Given the description of an element on the screen output the (x, y) to click on. 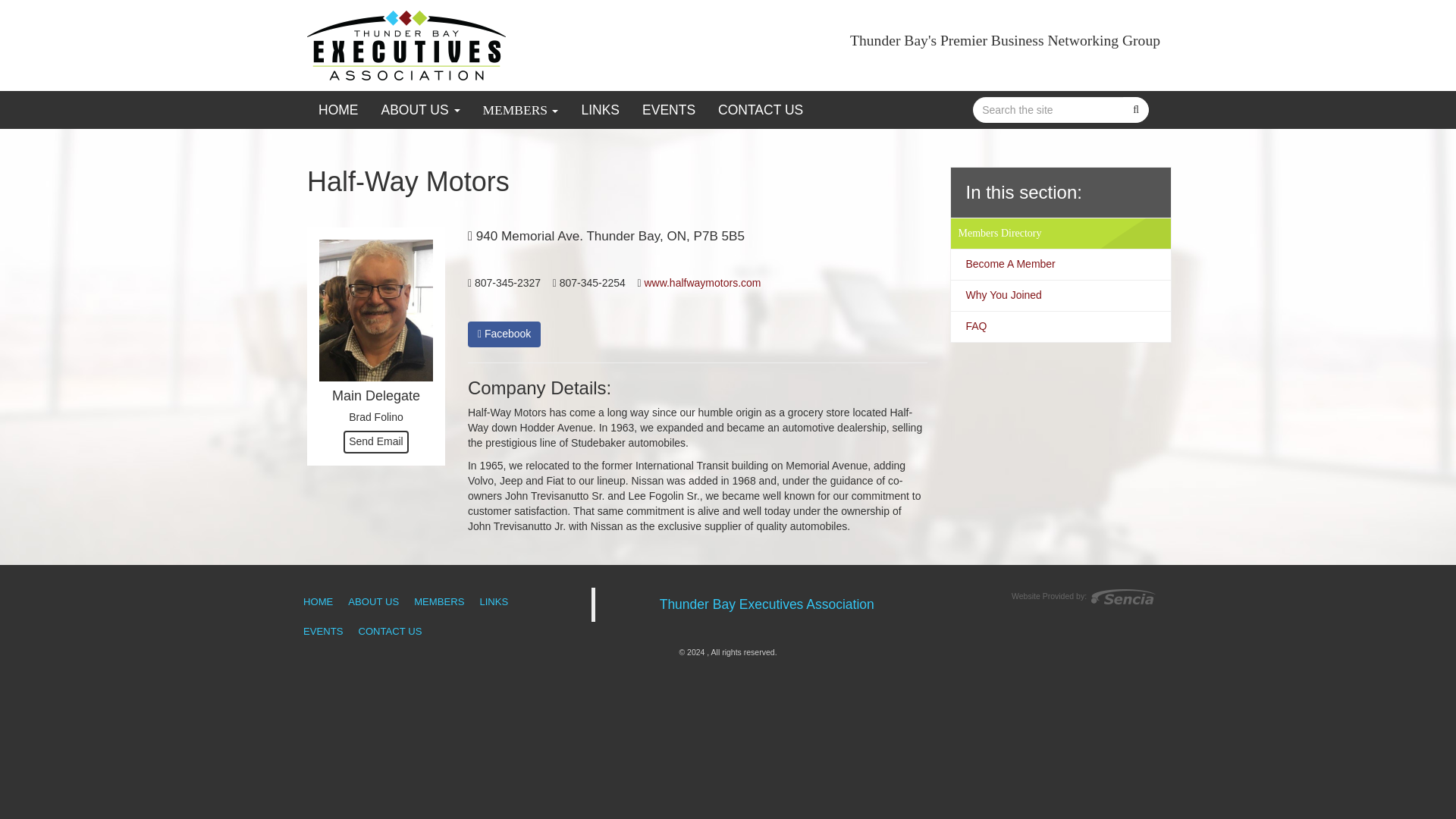
LINKS (493, 601)
CONTACT US (390, 631)
Send Email (376, 441)
CONTACT US (759, 109)
HOME (317, 601)
ABOUT US (372, 601)
LINKS (599, 109)
Become A Member (1006, 263)
Half-Way Motors (701, 282)
www.halfwaymotors.com (701, 282)
Facebook (504, 334)
HOME (338, 109)
